Given the description of an element on the screen output the (x, y) to click on. 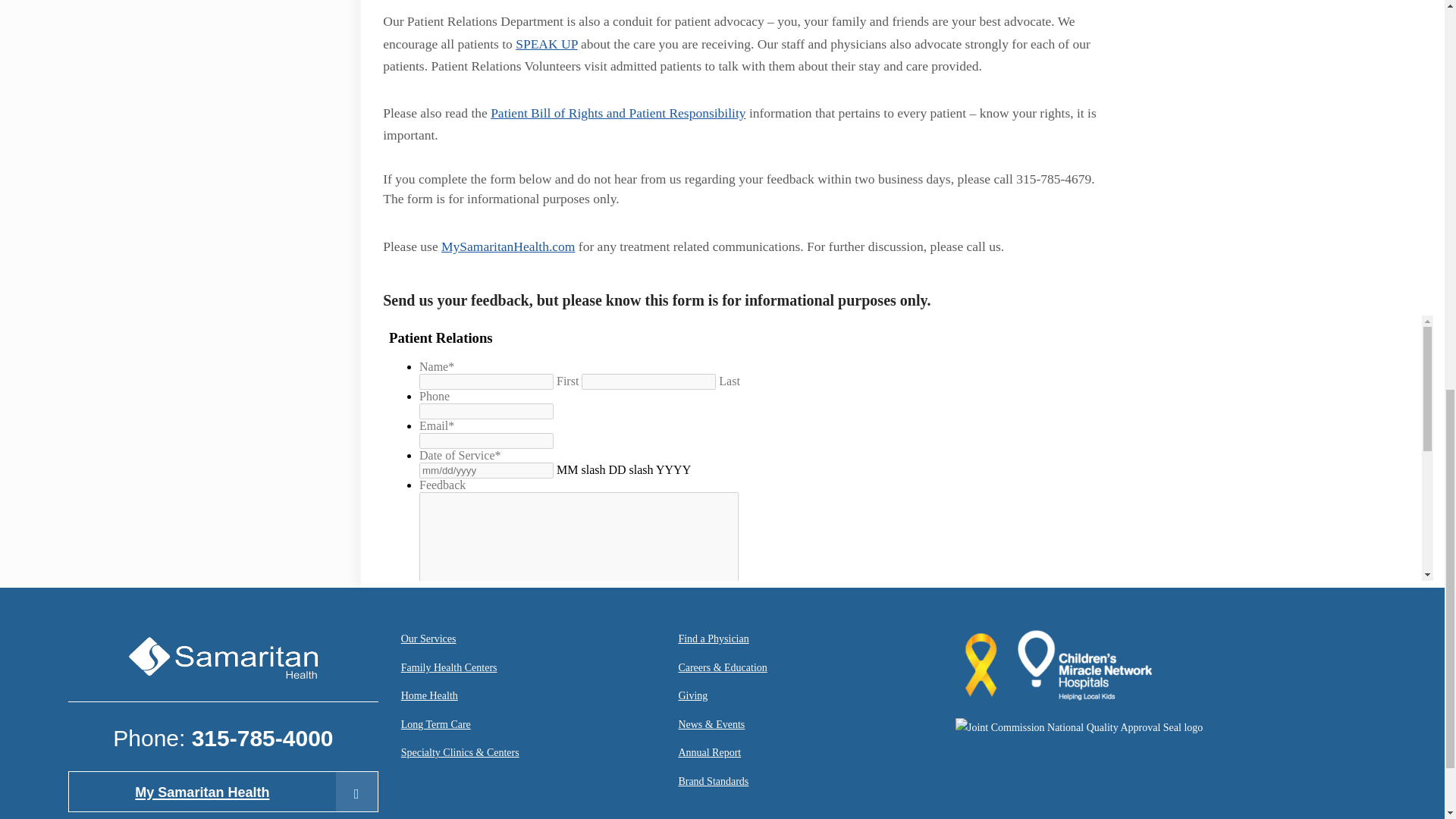
Click here to view Find a Physician (713, 640)
Click here to view Brand Standards (713, 783)
Click here to view Family Health Centers (449, 669)
Click here to view Giving (692, 697)
Click here to view Home Health (429, 697)
Click here to view Annual Report (709, 754)
Click here to view Our Services (429, 640)
Click here to view Long Term Care (435, 726)
